Given the description of an element on the screen output the (x, y) to click on. 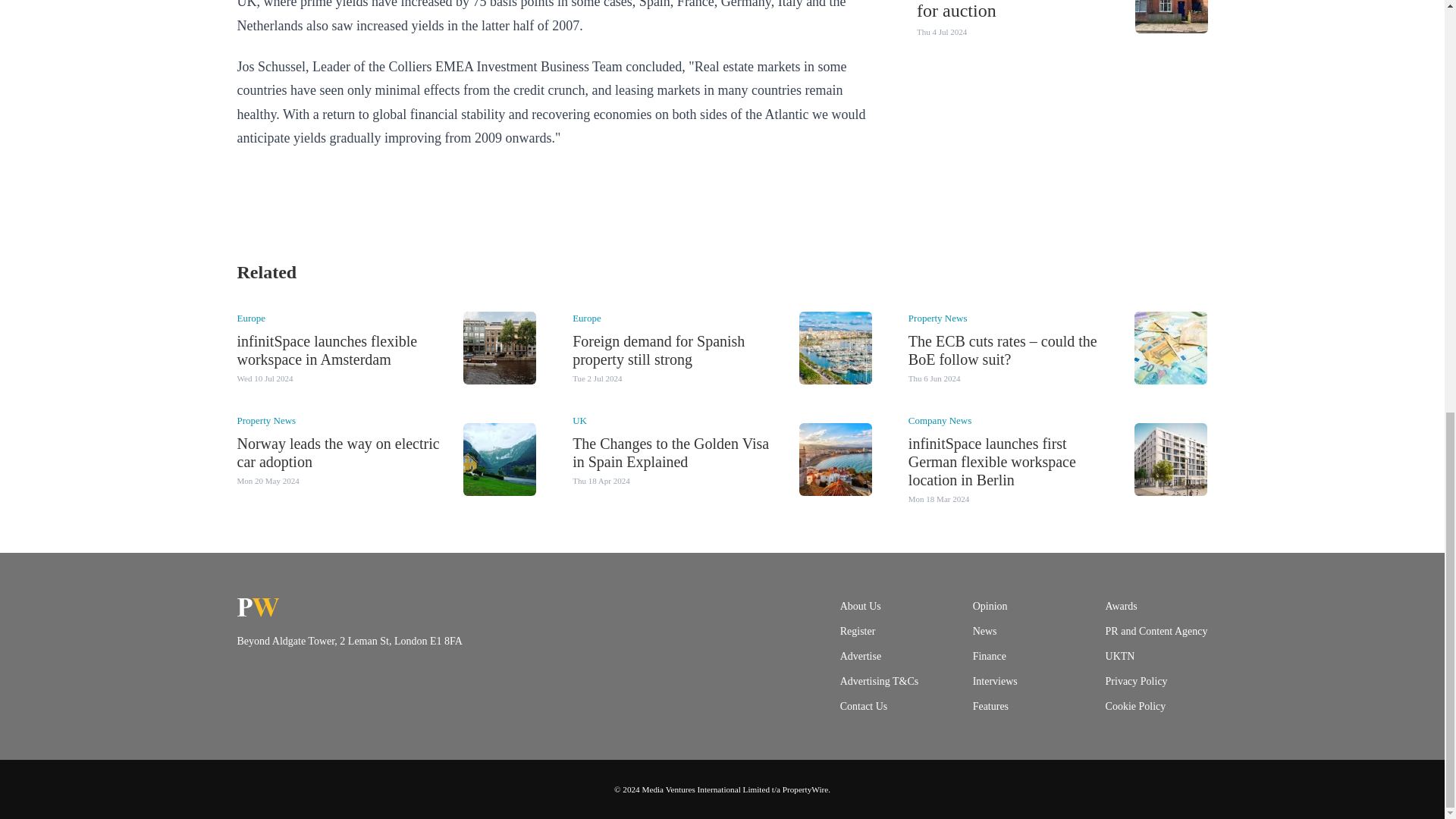
infinitSpace launches flexible workspace in Amsterdam (325, 349)
Foreign demand for Spanish property still strong (658, 349)
Europe (249, 317)
Property News (938, 317)
Europe (586, 317)
East Midlands homes up for auction (1005, 10)
